Given the description of an element on the screen output the (x, y) to click on. 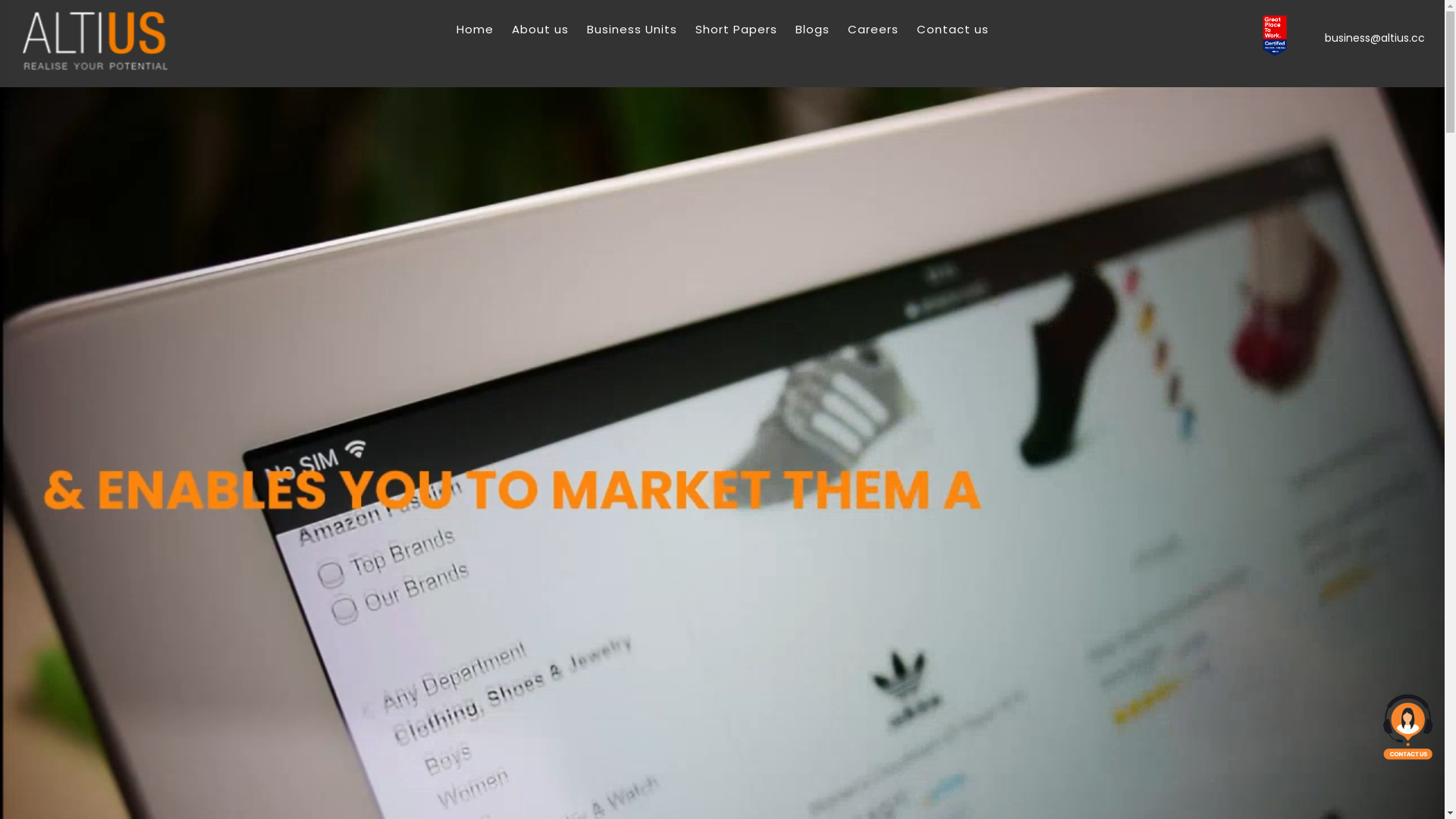
Blogs Element type: text (811, 29)
Contact us Element type: text (952, 29)
About us Element type: text (539, 29)
business@altius.cc Element type: text (1372, 37)
Home Element type: text (474, 29)
Careers Element type: text (872, 29)
Short Papers Element type: text (735, 29)
Business Units Element type: text (631, 29)
